Given the description of an element on the screen output the (x, y) to click on. 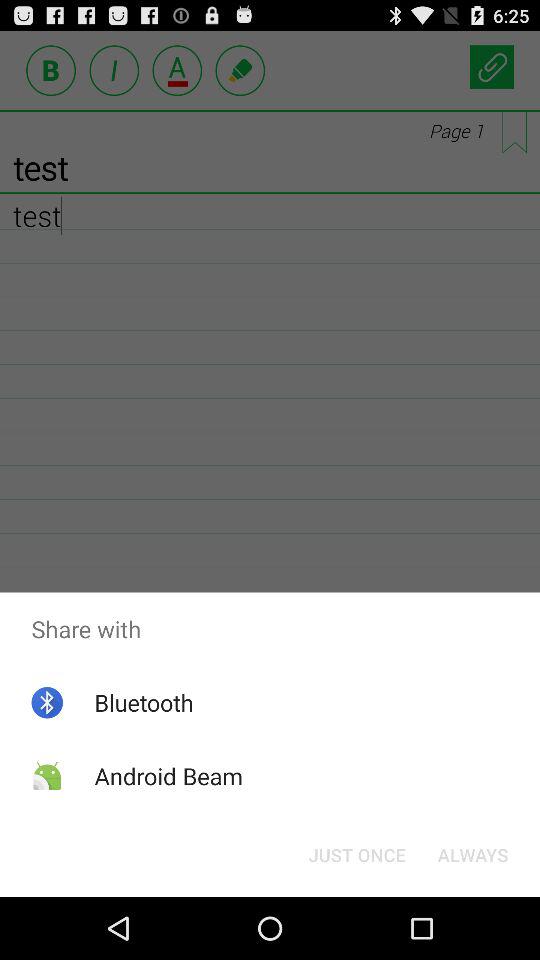
tap the android beam item (168, 775)
